Given the description of an element on the screen output the (x, y) to click on. 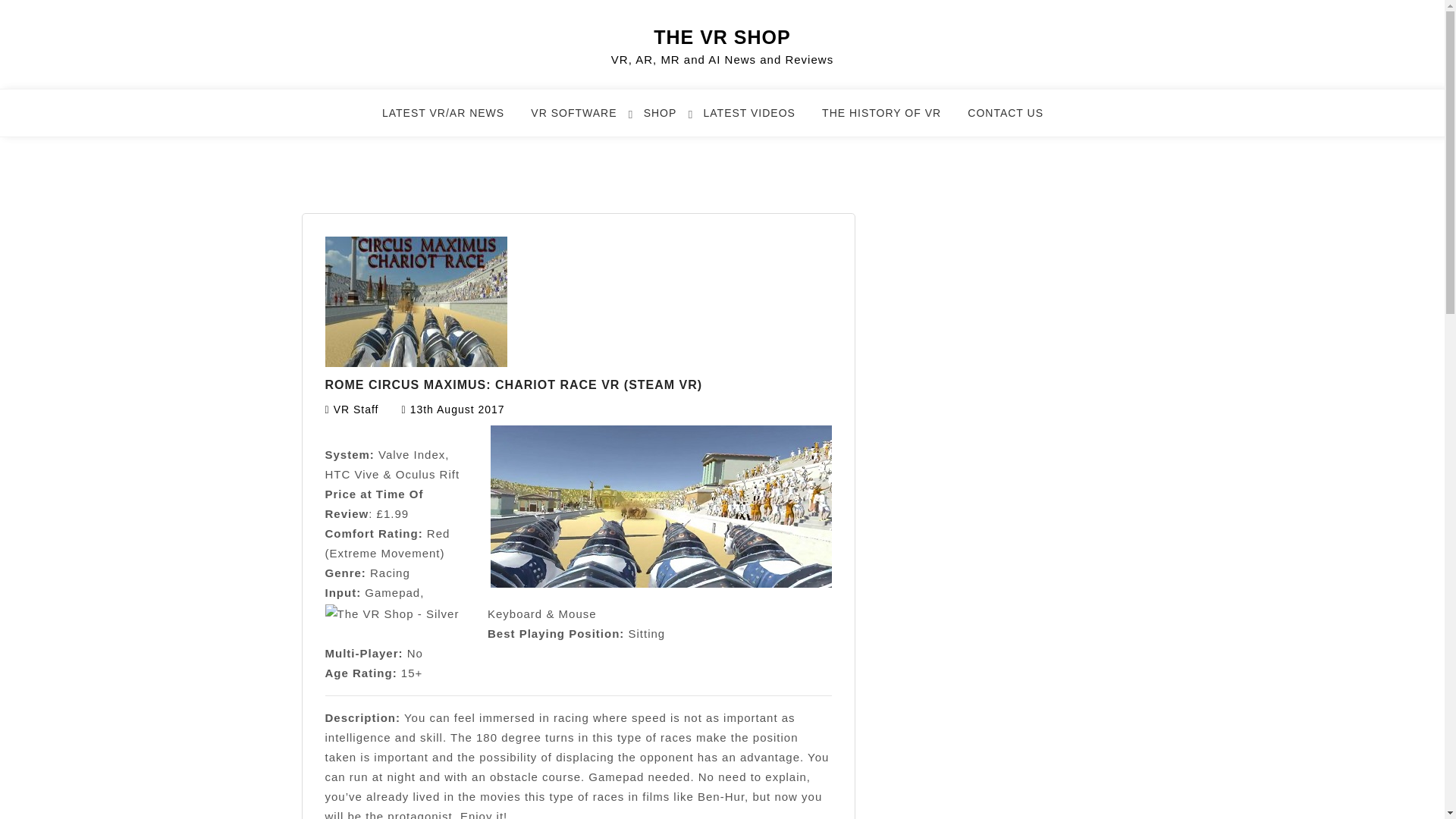
THE HISTORY OF VR (890, 119)
THE VR SHOP (721, 36)
LATEST VIDEOS (758, 119)
13th August 2017 (457, 409)
VR Staff (355, 409)
VR SOFTWARE (582, 119)
SHOP (669, 119)
CONTACT US (1015, 119)
